Given the description of an element on the screen output the (x, y) to click on. 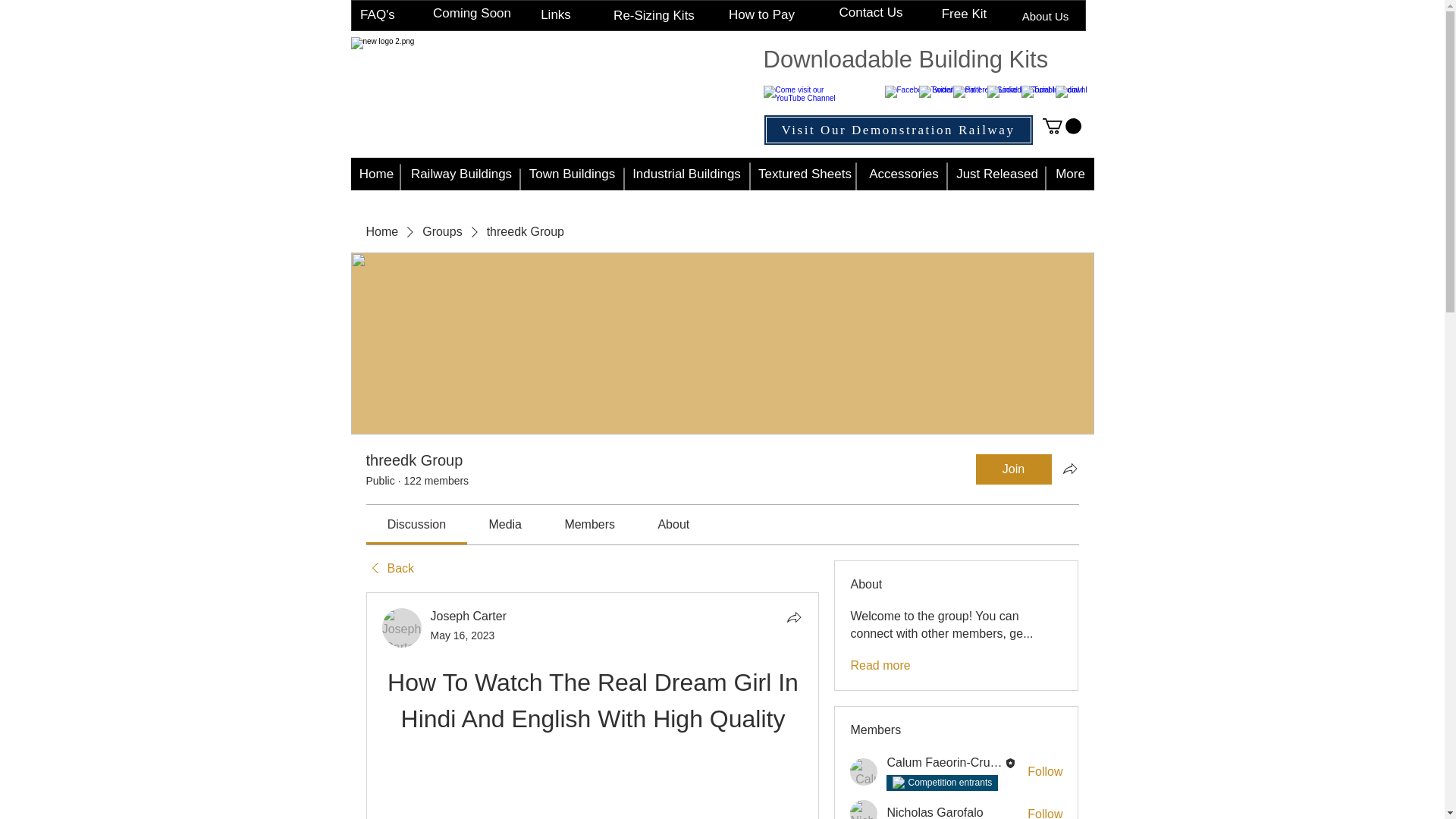
Home (381, 231)
Coming Soon (471, 14)
How to Pay (761, 15)
Groups (441, 231)
Calum Faeorin-Cruich (946, 762)
FAQ's (377, 15)
Industrial Buildings (686, 174)
Home (375, 174)
May 16, 2023 (462, 635)
Just Released (996, 174)
Joseph Carter (401, 627)
Free Kit (963, 14)
Contact Us (870, 13)
Accessories (903, 174)
